Given the description of an element on the screen output the (x, y) to click on. 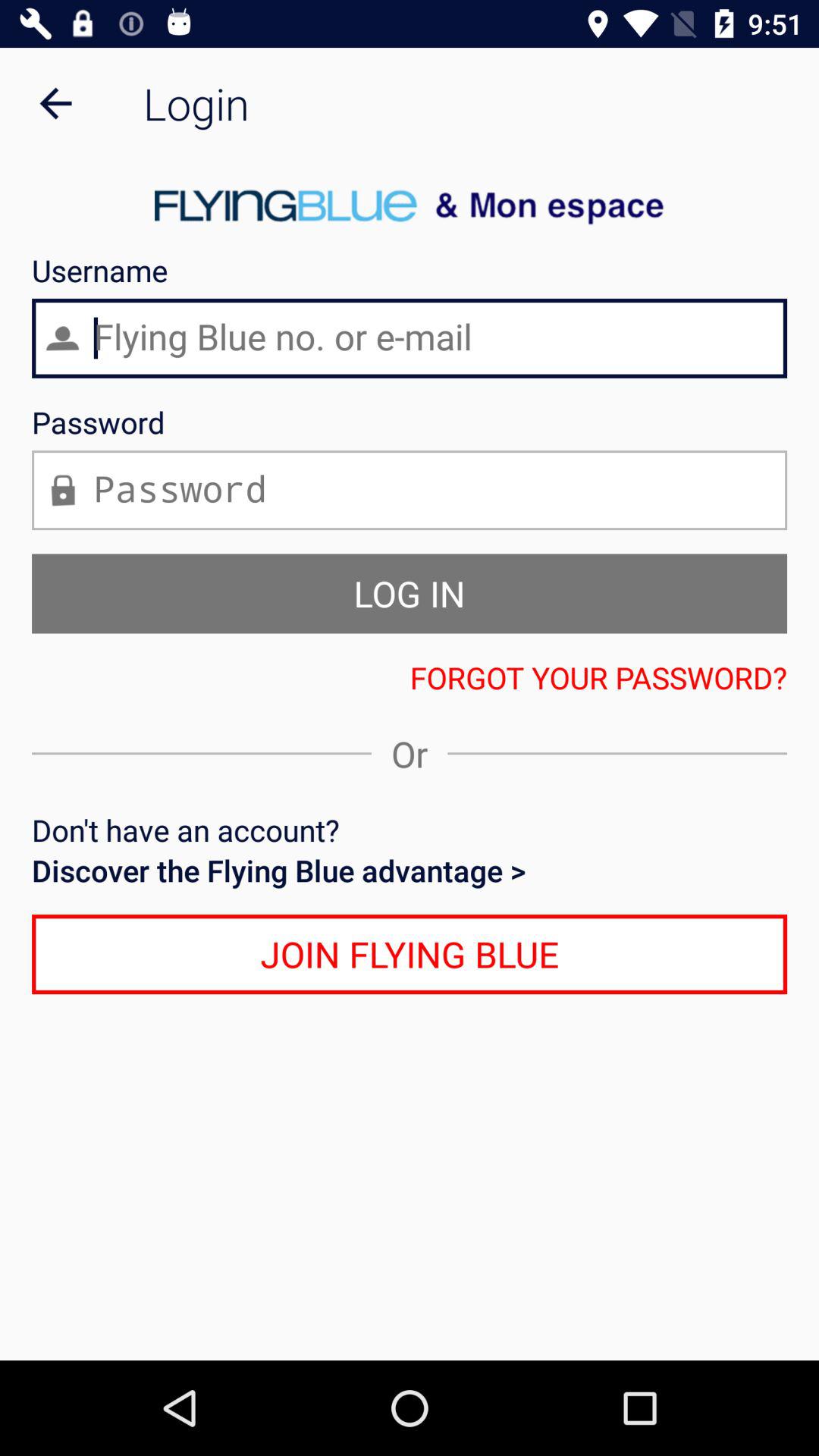
jump to the log in (409, 593)
